Given the description of an element on the screen output the (x, y) to click on. 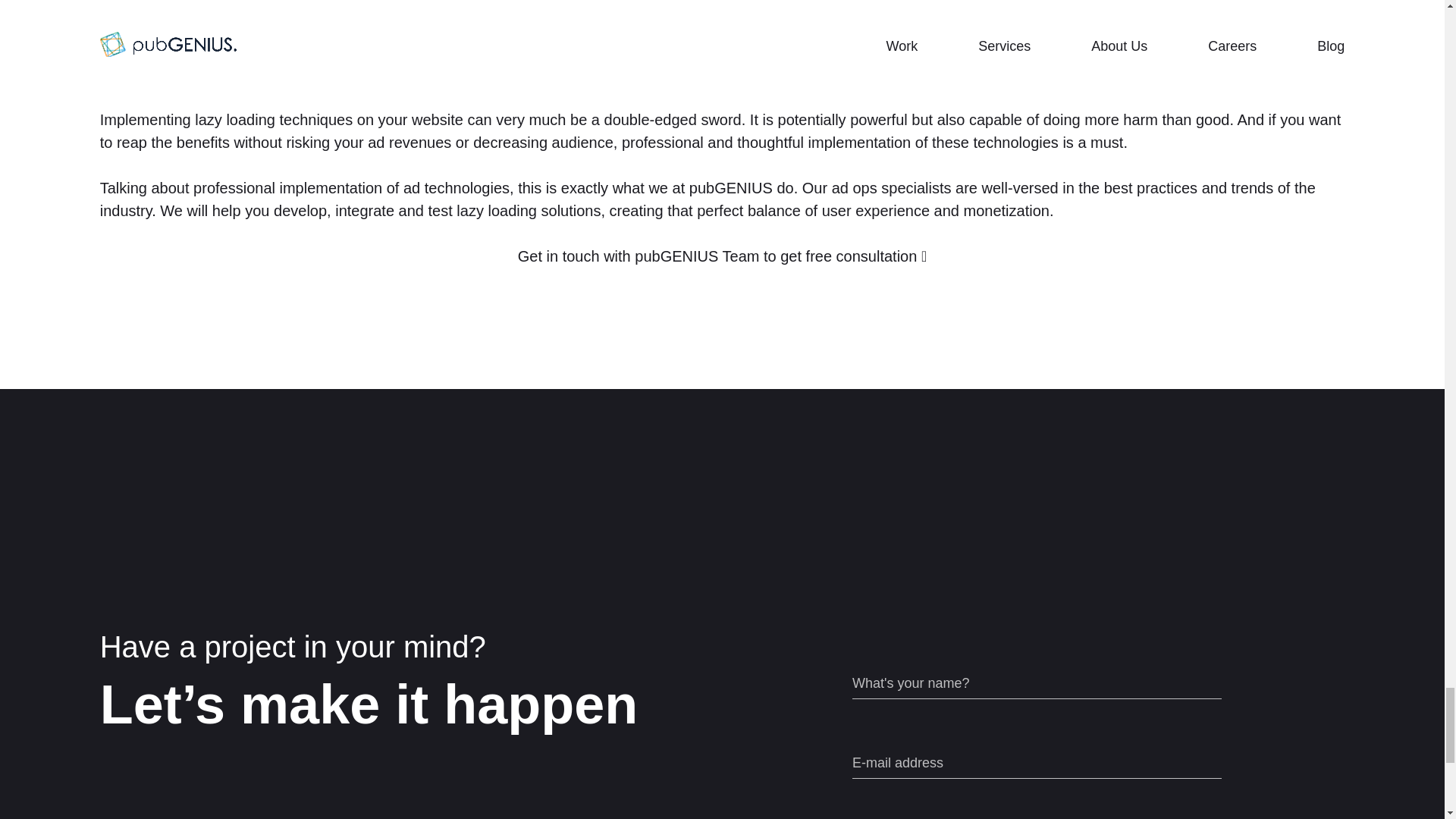
Have a project in your mind? (408, 646)
E-mail address (1036, 763)
Contact us (721, 301)
What's your name? (1036, 684)
